Given the description of an element on the screen output the (x, y) to click on. 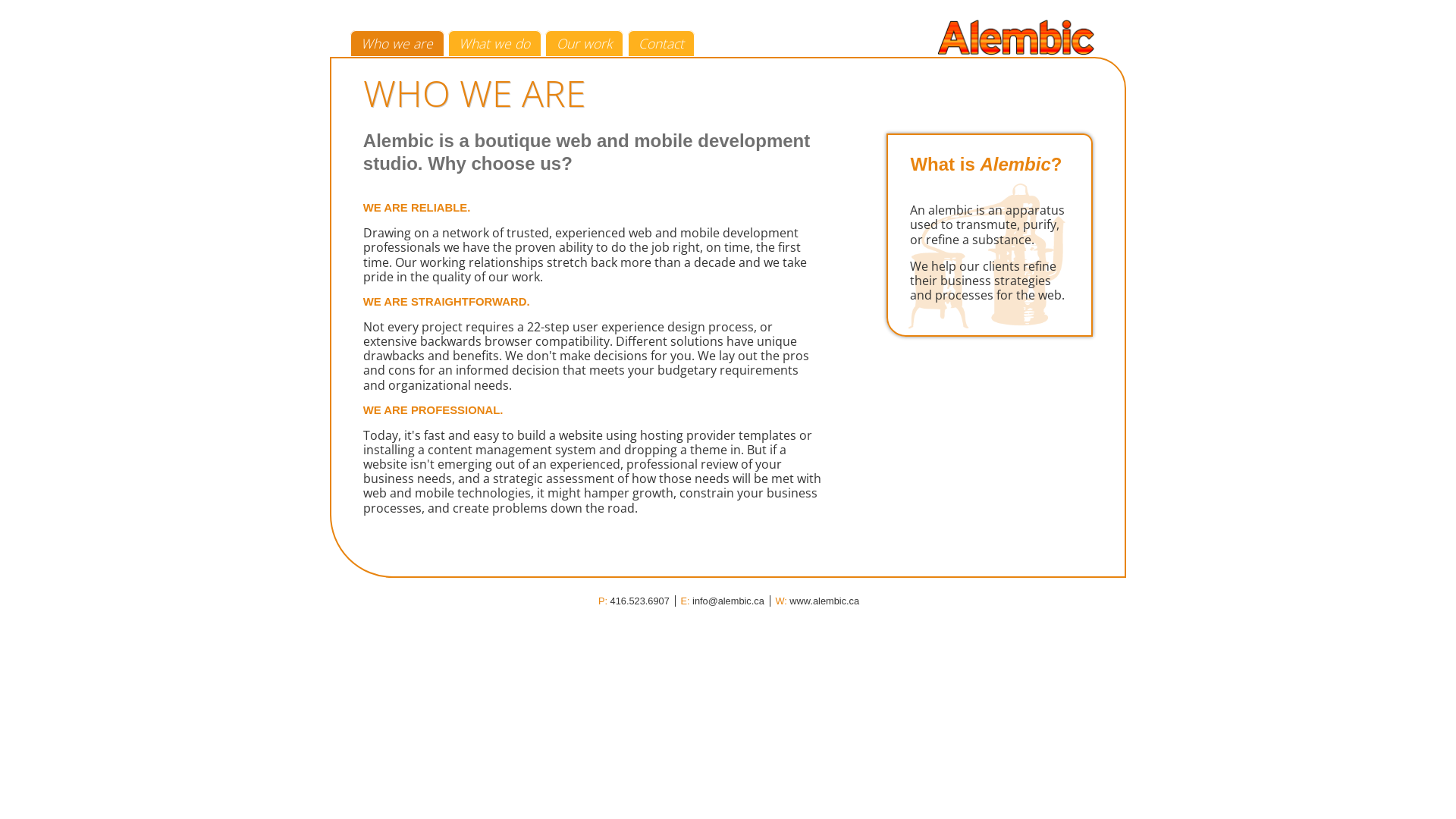
What we do Element type: text (494, 43)
Our work Element type: text (583, 43)
Who we are Element type: text (396, 43)
Contact Element type: text (660, 43)
